Given the description of an element on the screen output the (x, y) to click on. 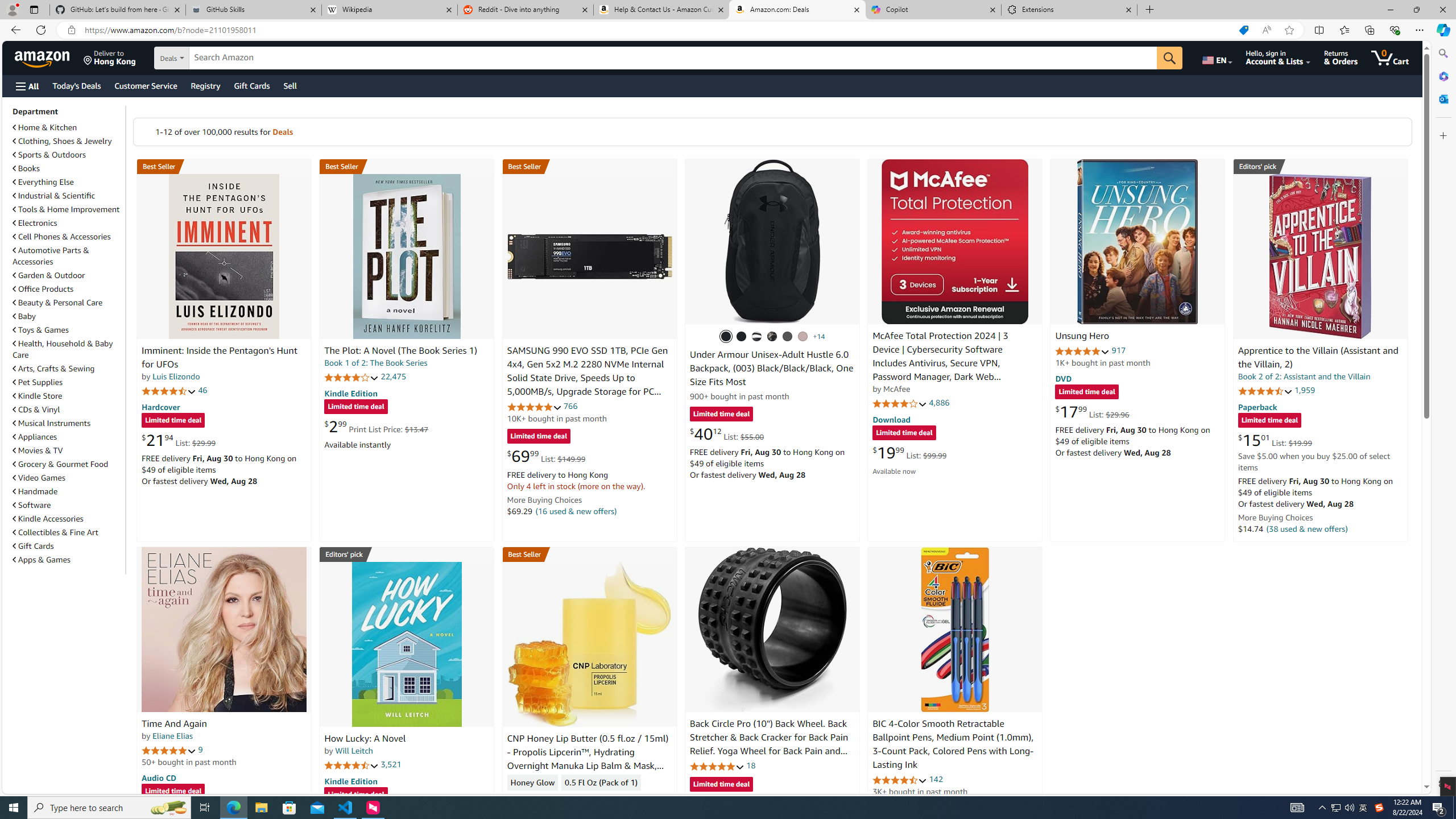
4.8 out of 5 stars (716, 766)
Imminent: Inside the Pentagon's Hunt for UFOs (223, 256)
Beauty & Personal Care (67, 301)
Wikipedia (390, 9)
5.0 out of 5 stars (168, 750)
Musical Instruments (51, 422)
Best Seller in Internal Solid State Drives (589, 165)
Video Games (67, 477)
4.9 out of 5 stars (1082, 351)
(16 used & new offers) (576, 511)
$69.99 List: $149.99 (545, 455)
Home & Kitchen (67, 127)
Close Outlook pane (1442, 98)
Choose a language for shopping. (1216, 57)
